Given the description of an element on the screen output the (x, y) to click on. 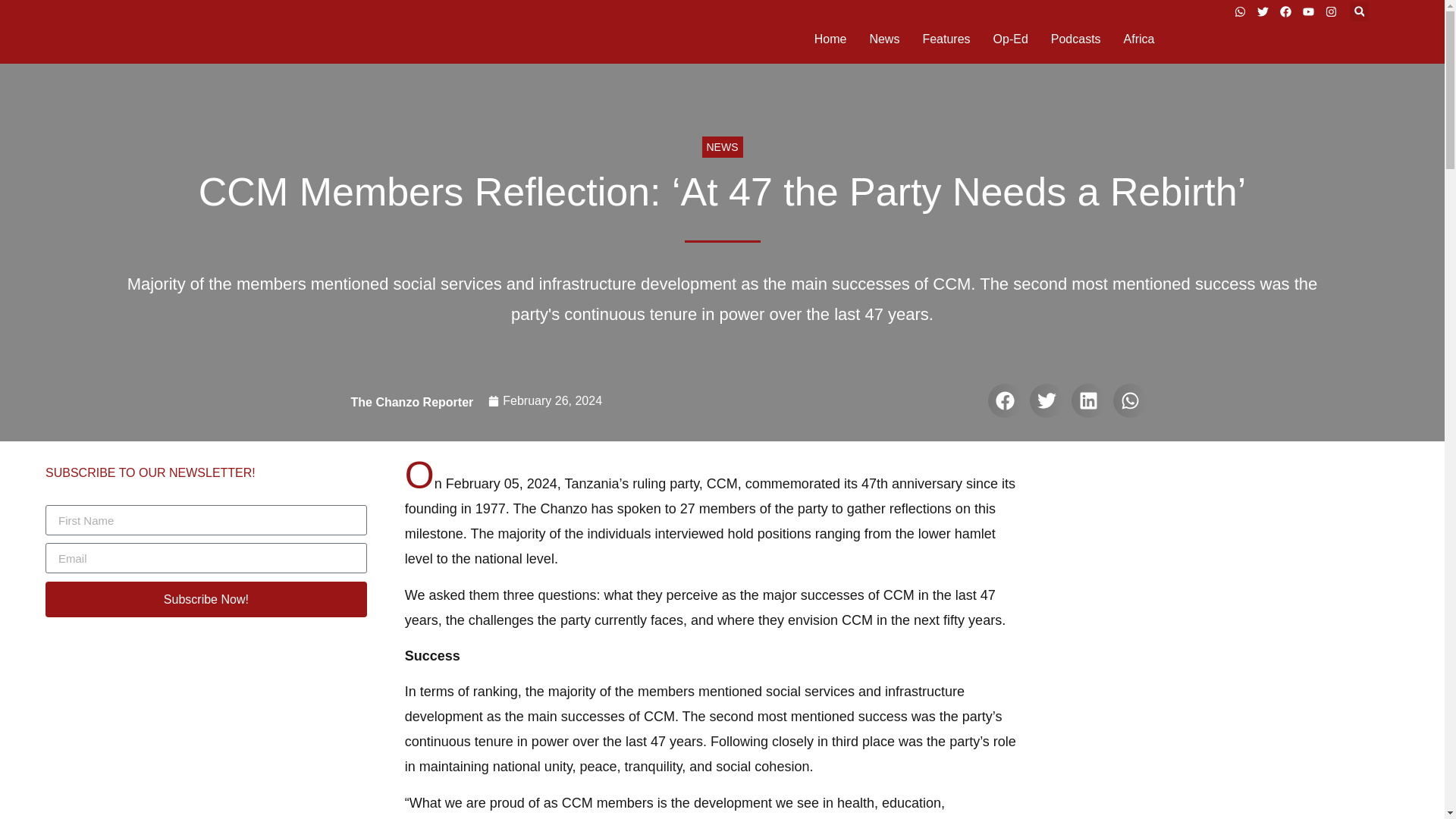
Home (830, 39)
Africa (1139, 39)
Podcasts (1075, 39)
Op-Ed (1009, 39)
Features (945, 39)
News (884, 39)
